Given the description of an element on the screen output the (x, y) to click on. 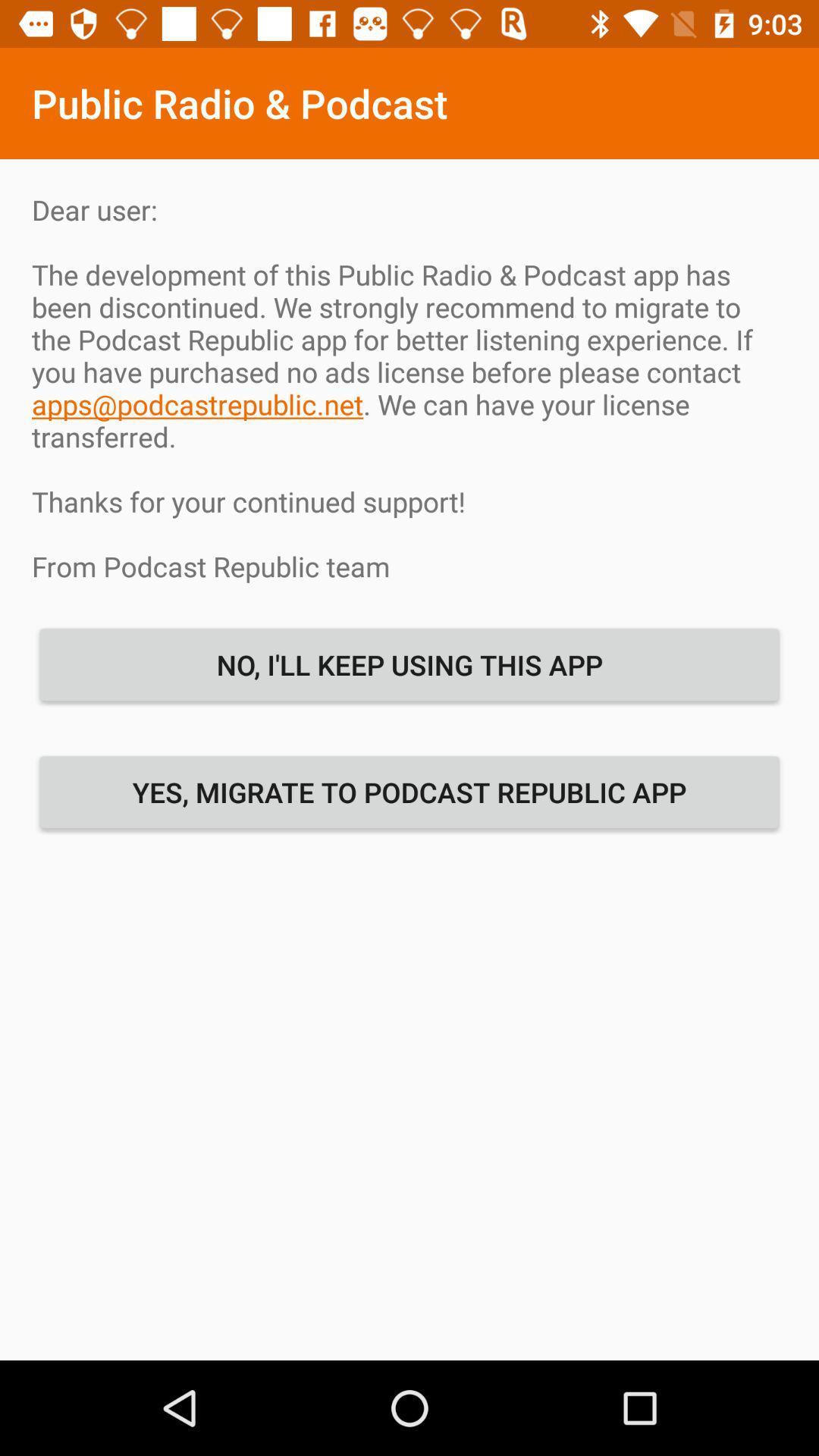
jump until no i ll icon (409, 664)
